Given the description of an element on the screen output the (x, y) to click on. 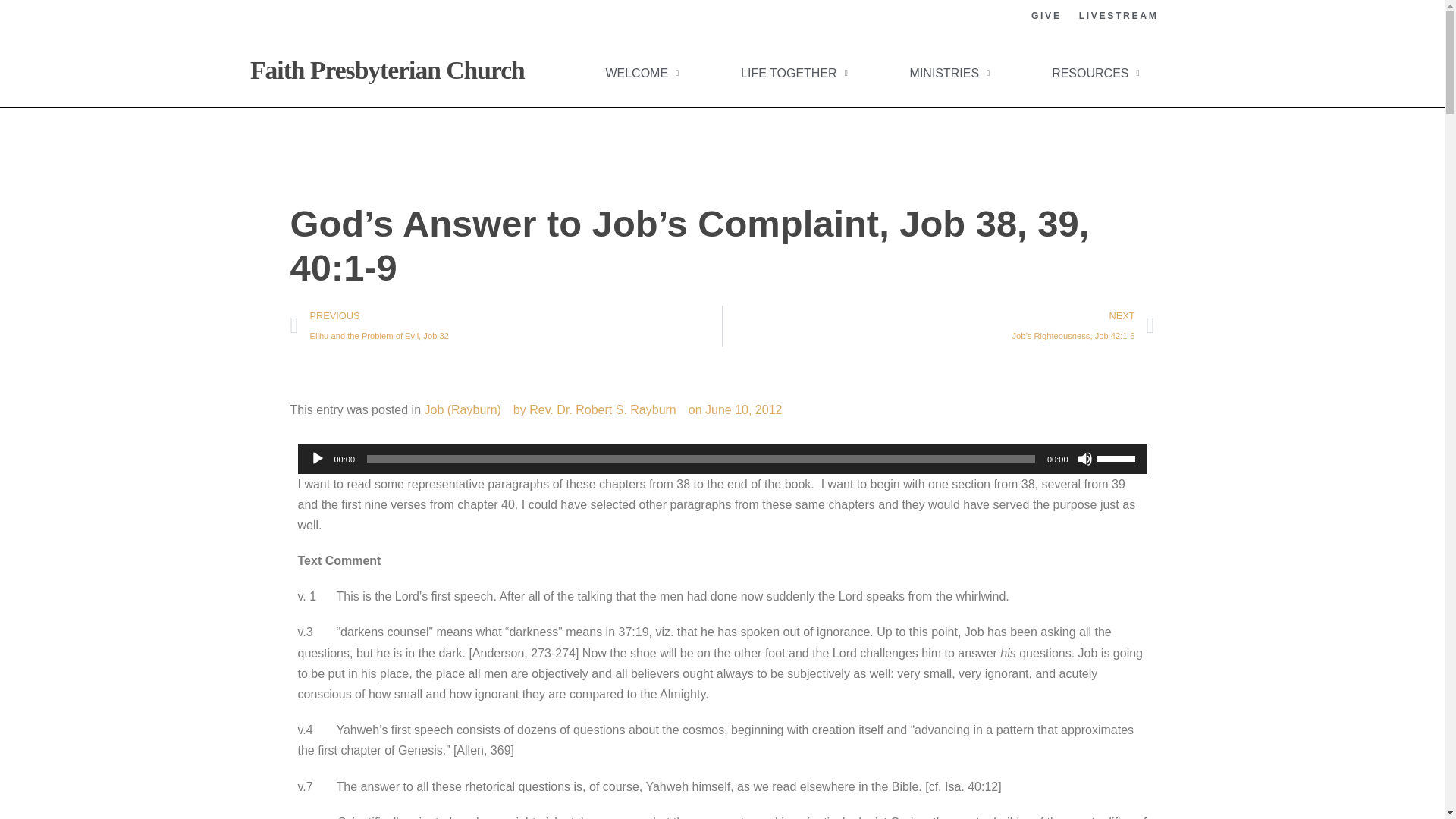
Faith Presbyterian Church (387, 70)
RESOURCES (1095, 73)
Mute (1084, 458)
GIVE (1045, 15)
MINISTRIES (948, 73)
LIVESTREAM (1118, 15)
LIFE TOGETHER (794, 73)
Play (316, 458)
WELCOME (641, 73)
